Given the description of an element on the screen output the (x, y) to click on. 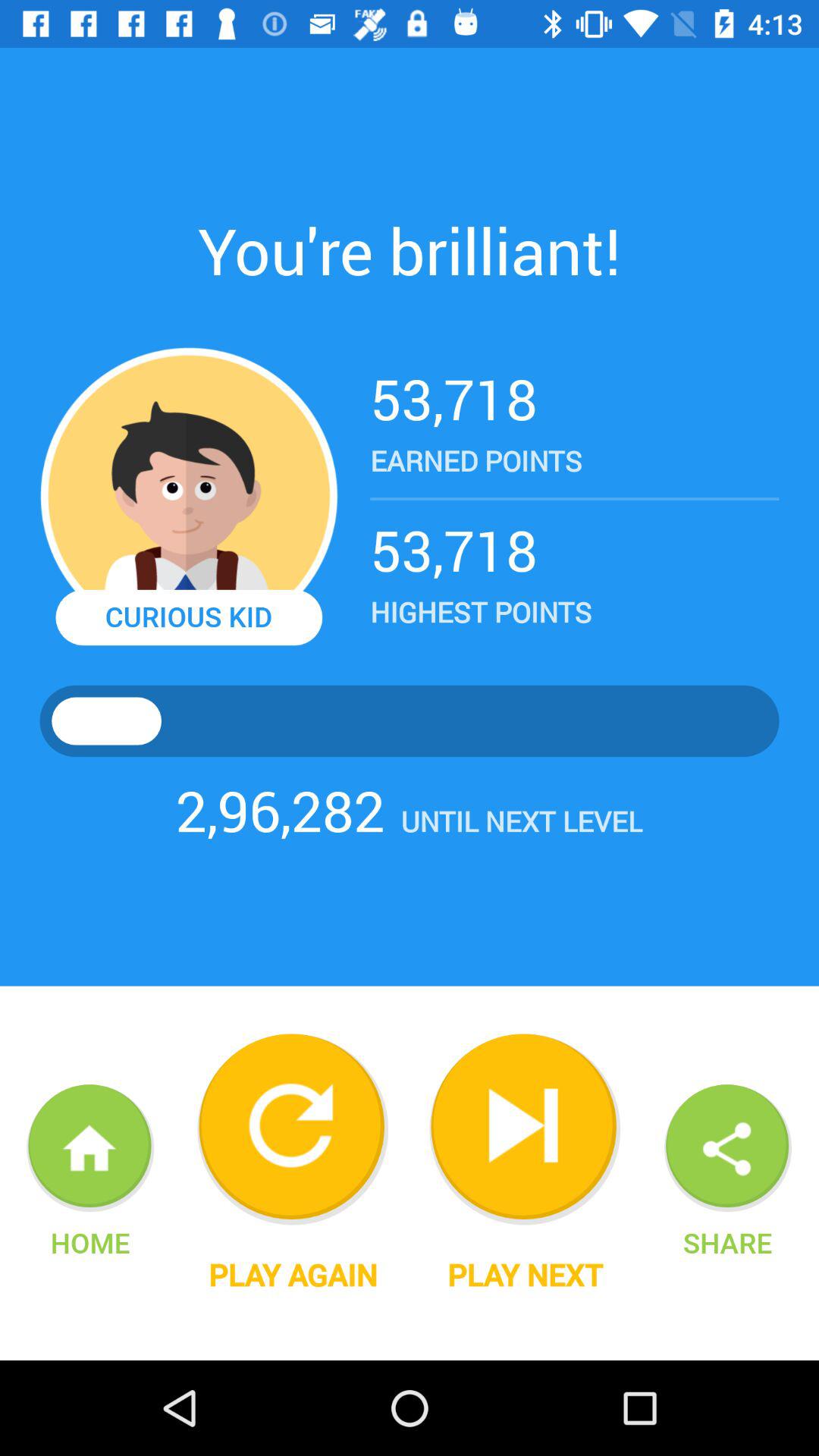
play again (292, 1129)
